Given the description of an element on the screen output the (x, y) to click on. 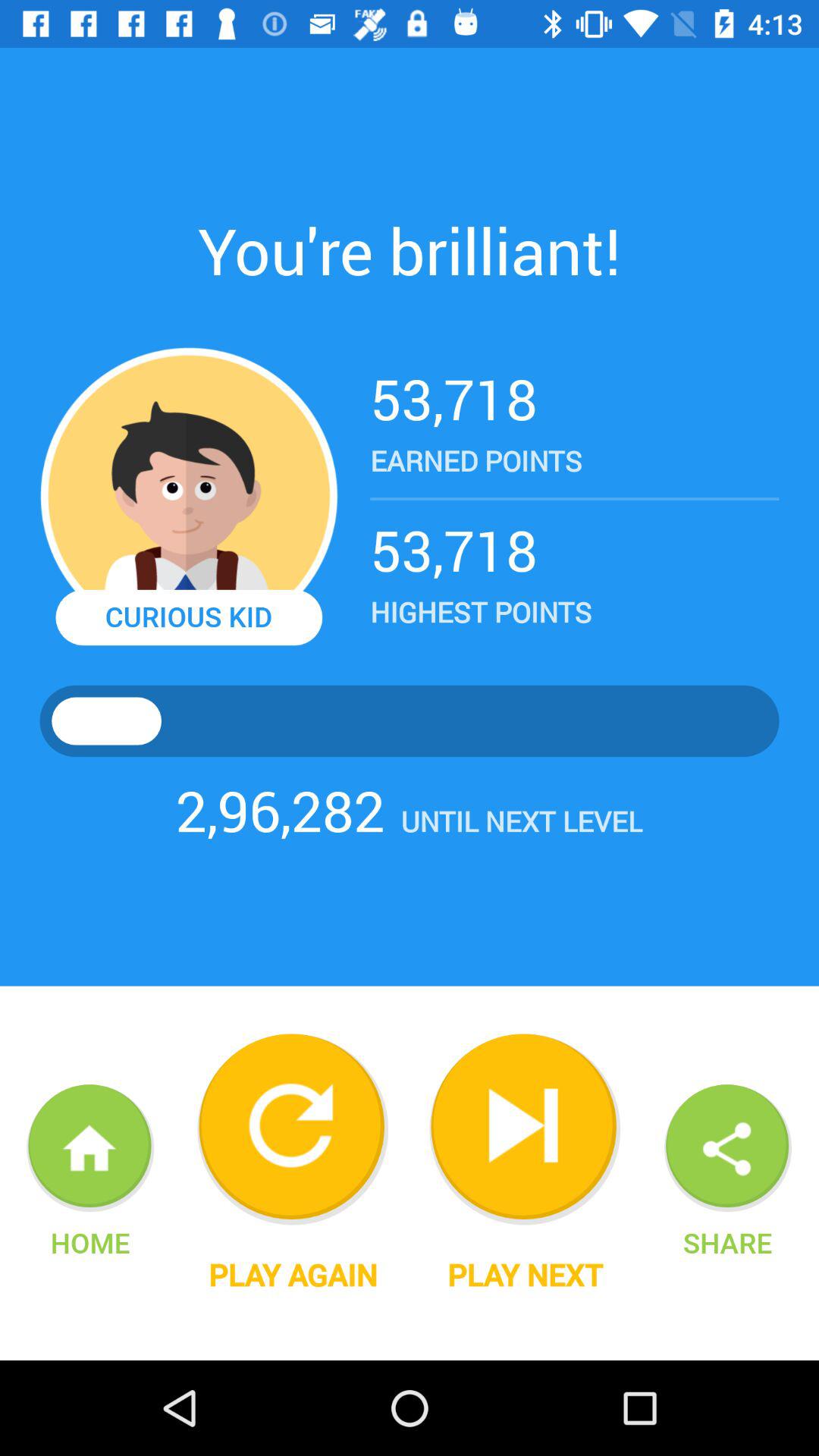
play again (292, 1129)
